Given the description of an element on the screen output the (x, y) to click on. 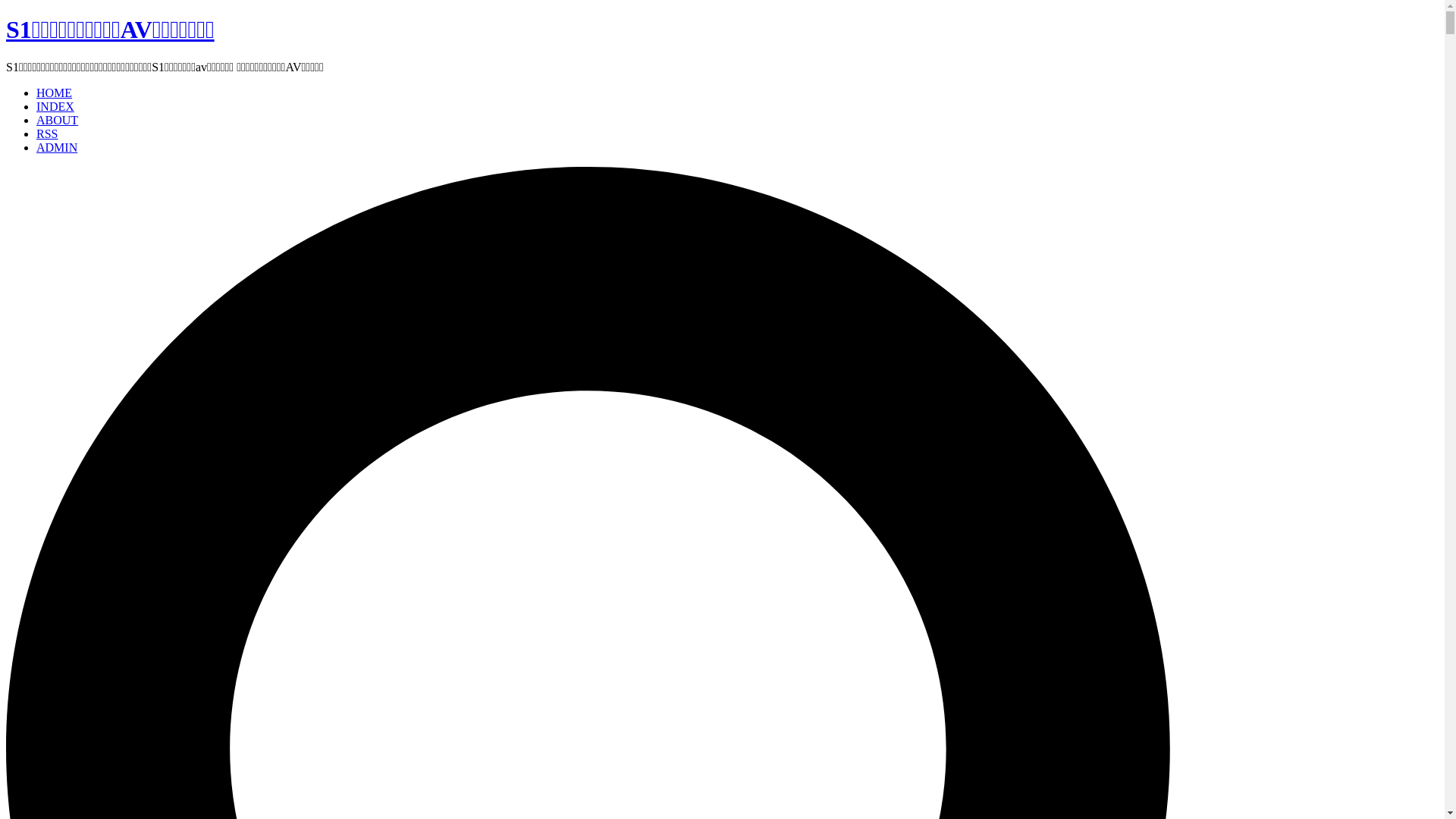
INDEX Element type: text (55, 106)
ABOUT Element type: text (57, 119)
RSS Element type: text (46, 133)
ADMIN Element type: text (56, 147)
HOME Element type: text (54, 92)
